Given the description of an element on the screen output the (x, y) to click on. 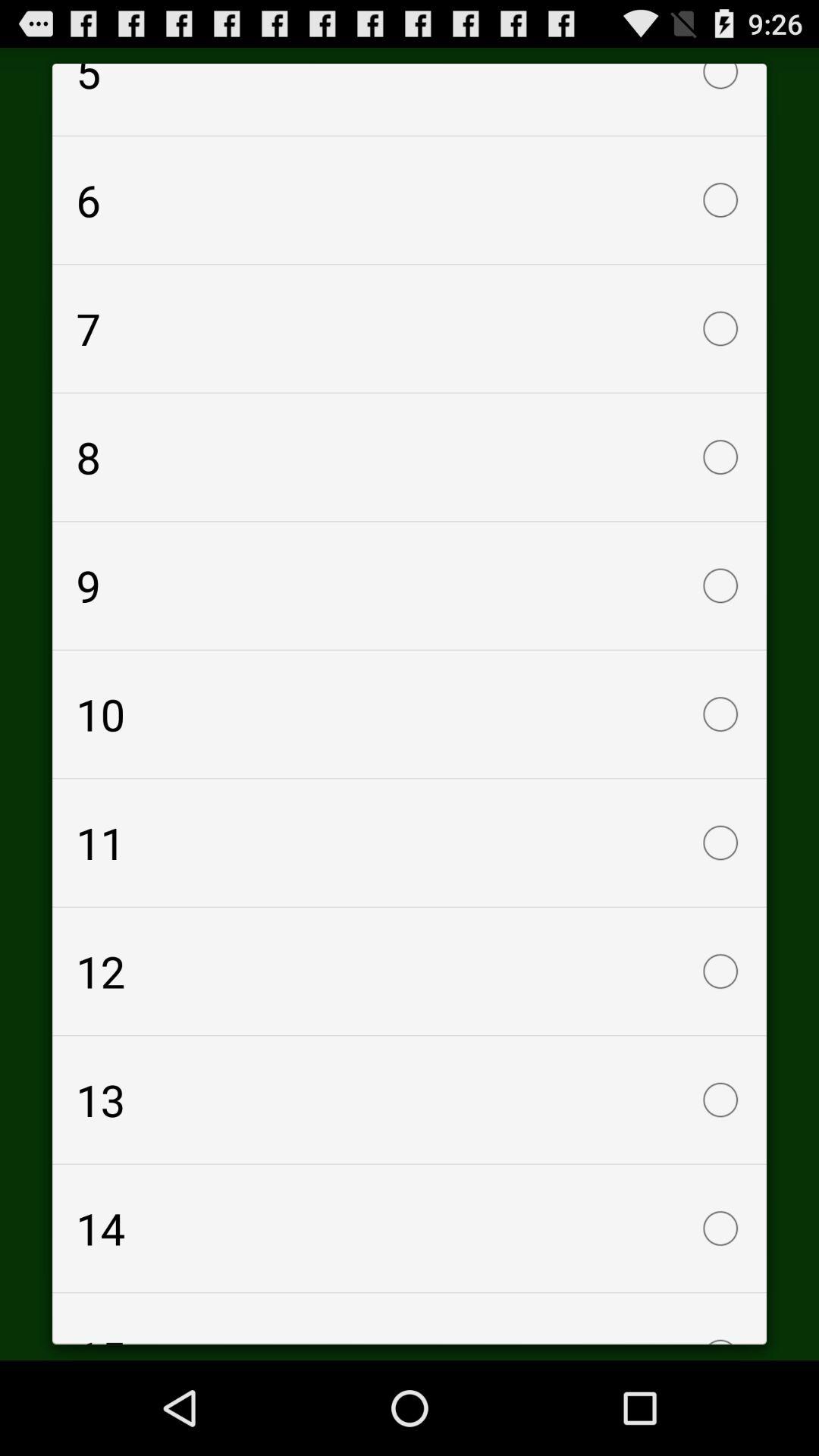
jump to 12 (409, 971)
